Given the description of an element on the screen output the (x, y) to click on. 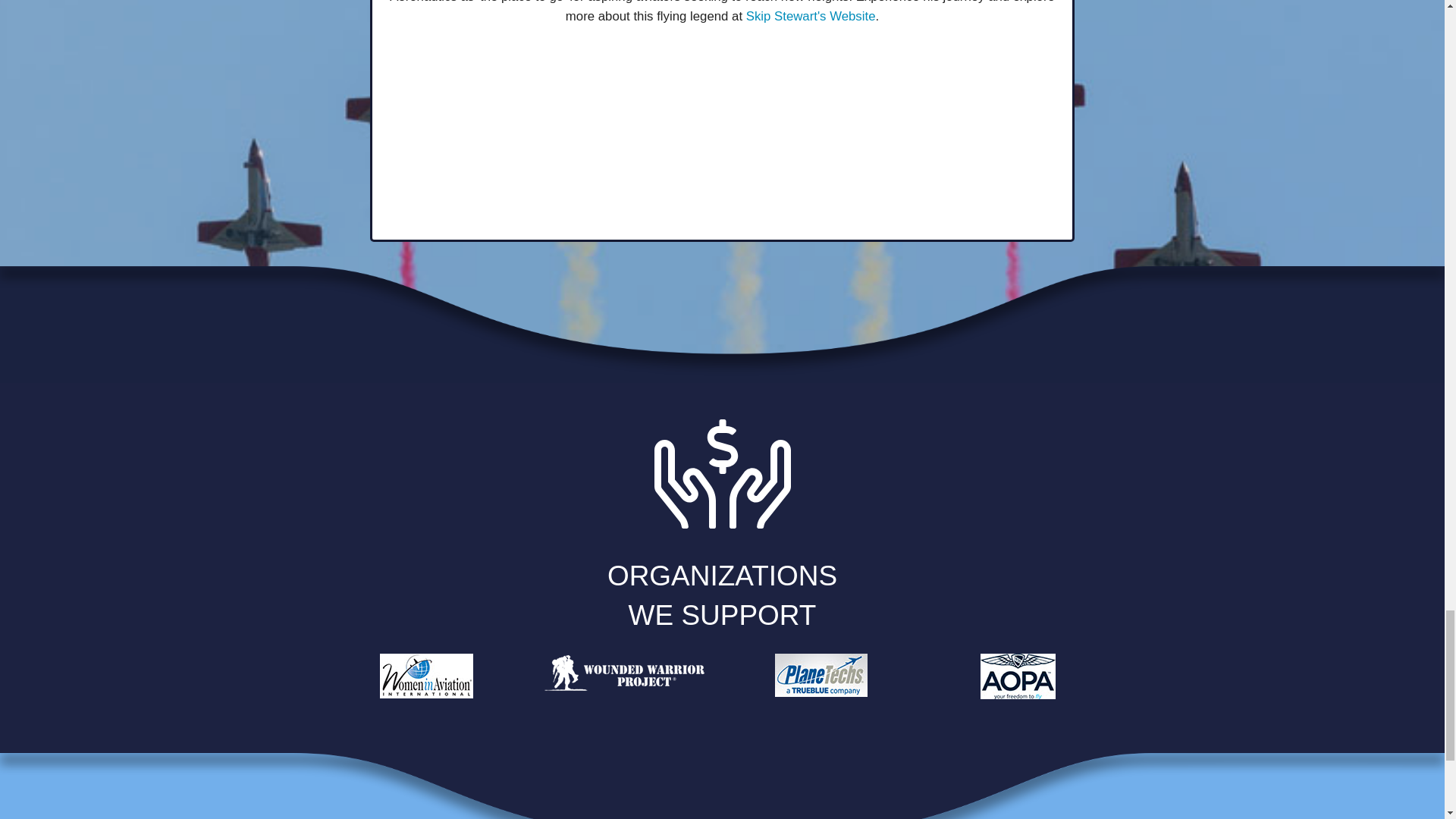
Skip Stewart's Website (810, 16)
